Given the description of an element on the screen output the (x, y) to click on. 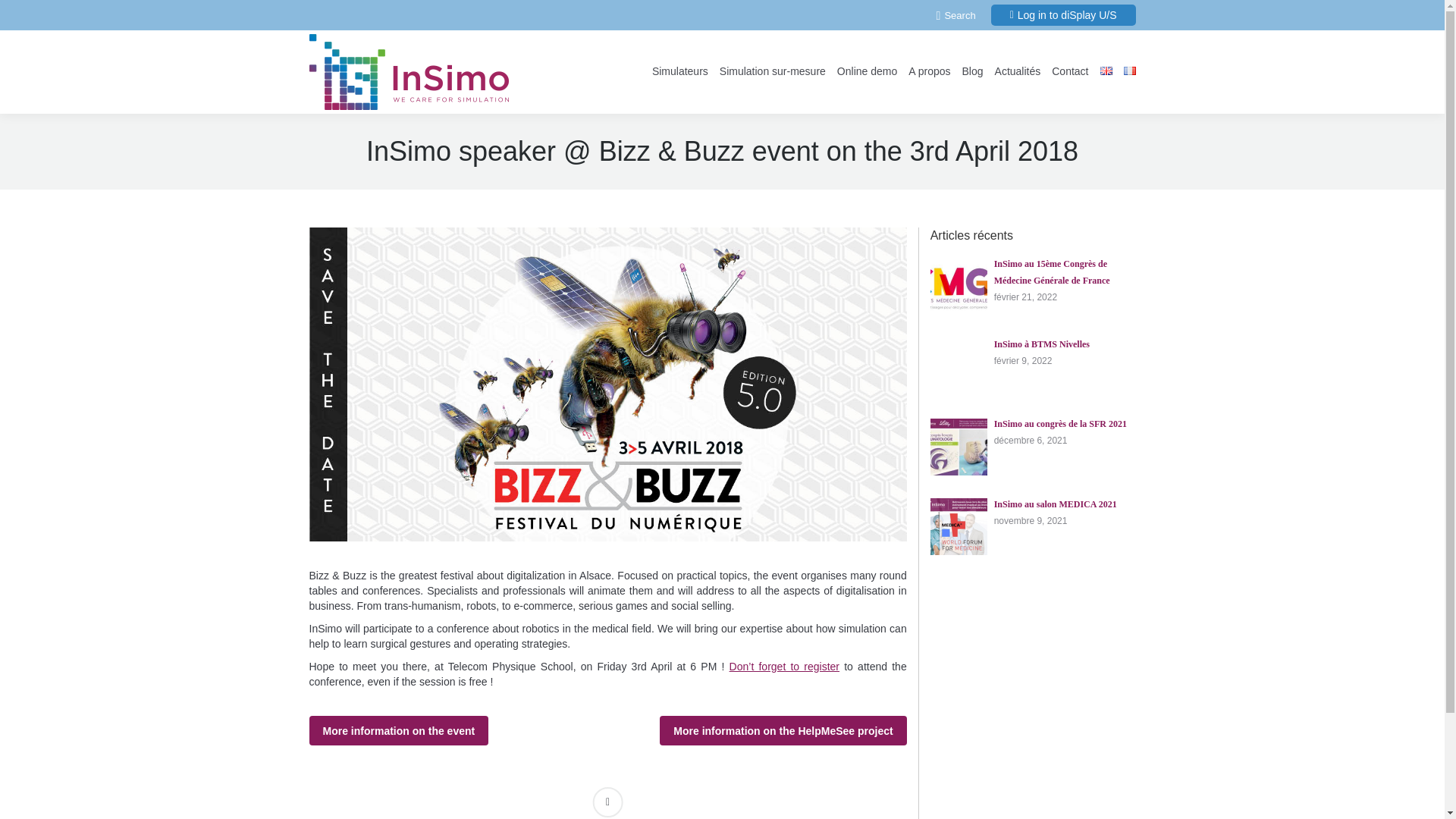
Search (955, 14)
Go to Top (1420, 794)
Simulation sur-mesure (772, 70)
Go! (22, 14)
Online demo (866, 70)
